Given the description of an element on the screen output the (x, y) to click on. 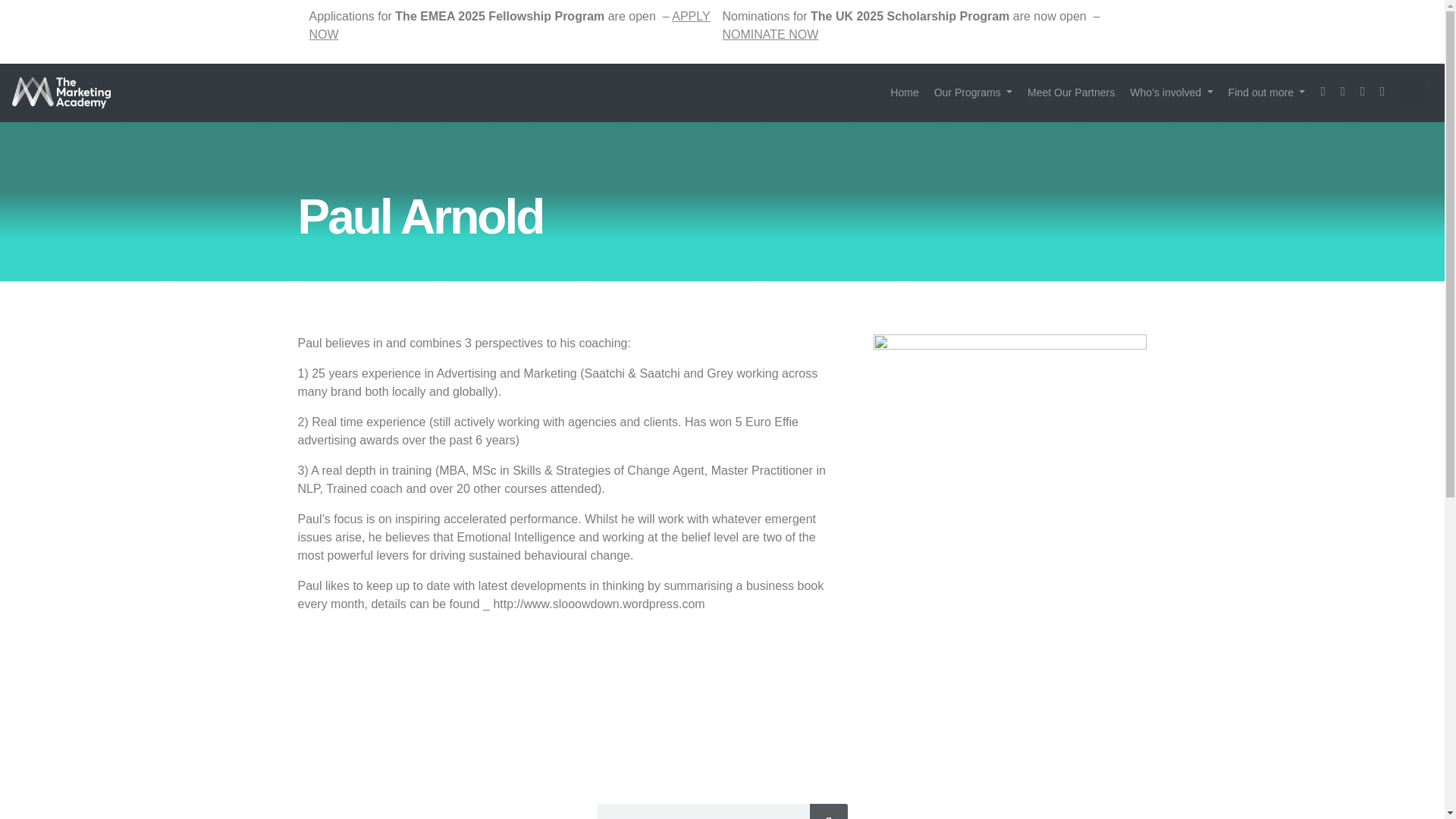
Our Programs (972, 92)
Meet Our Partners (1071, 92)
Home (903, 92)
